Given the description of an element on the screen output the (x, y) to click on. 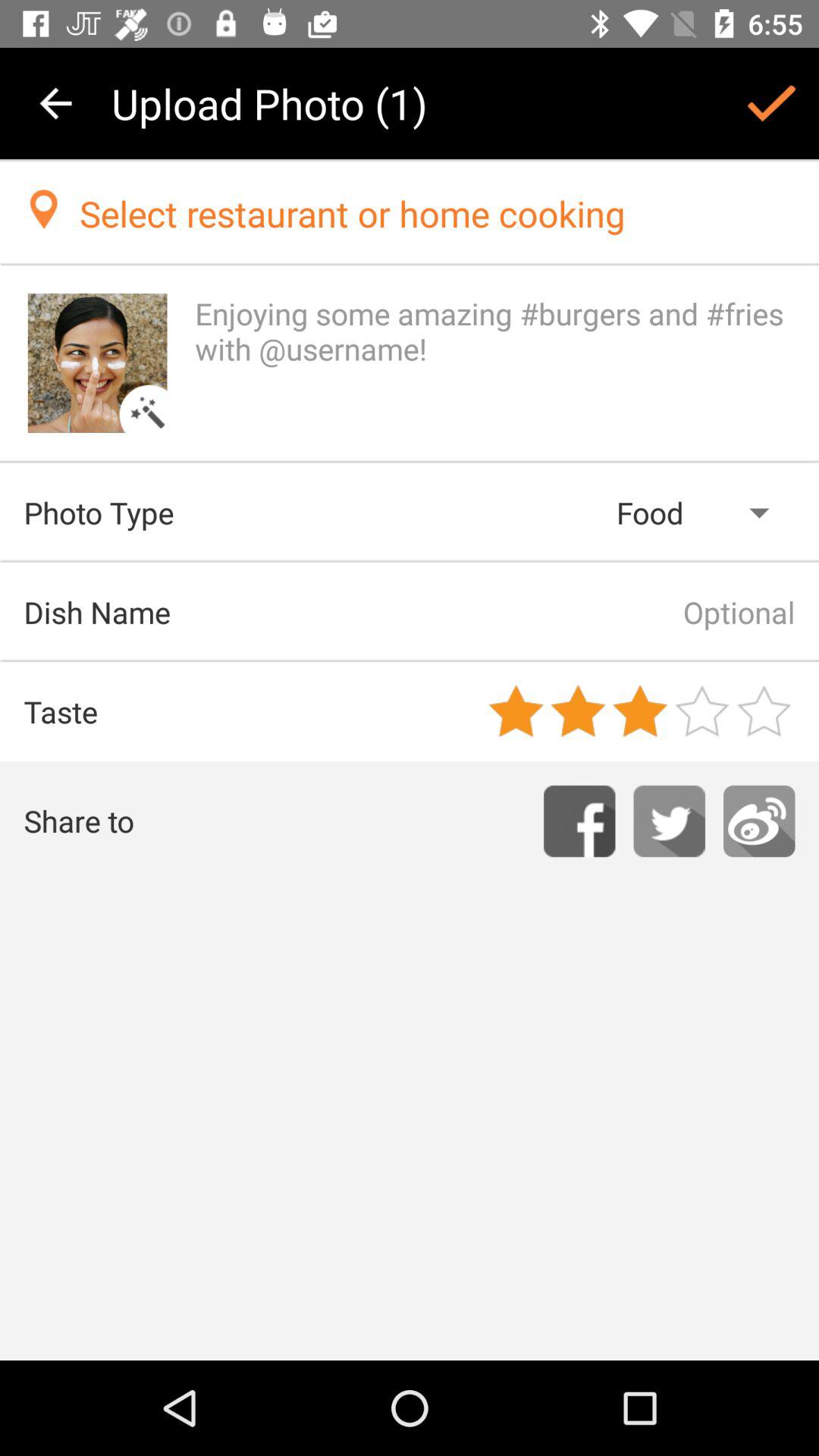
share to twitter (669, 821)
